Given the description of an element on the screen output the (x, y) to click on. 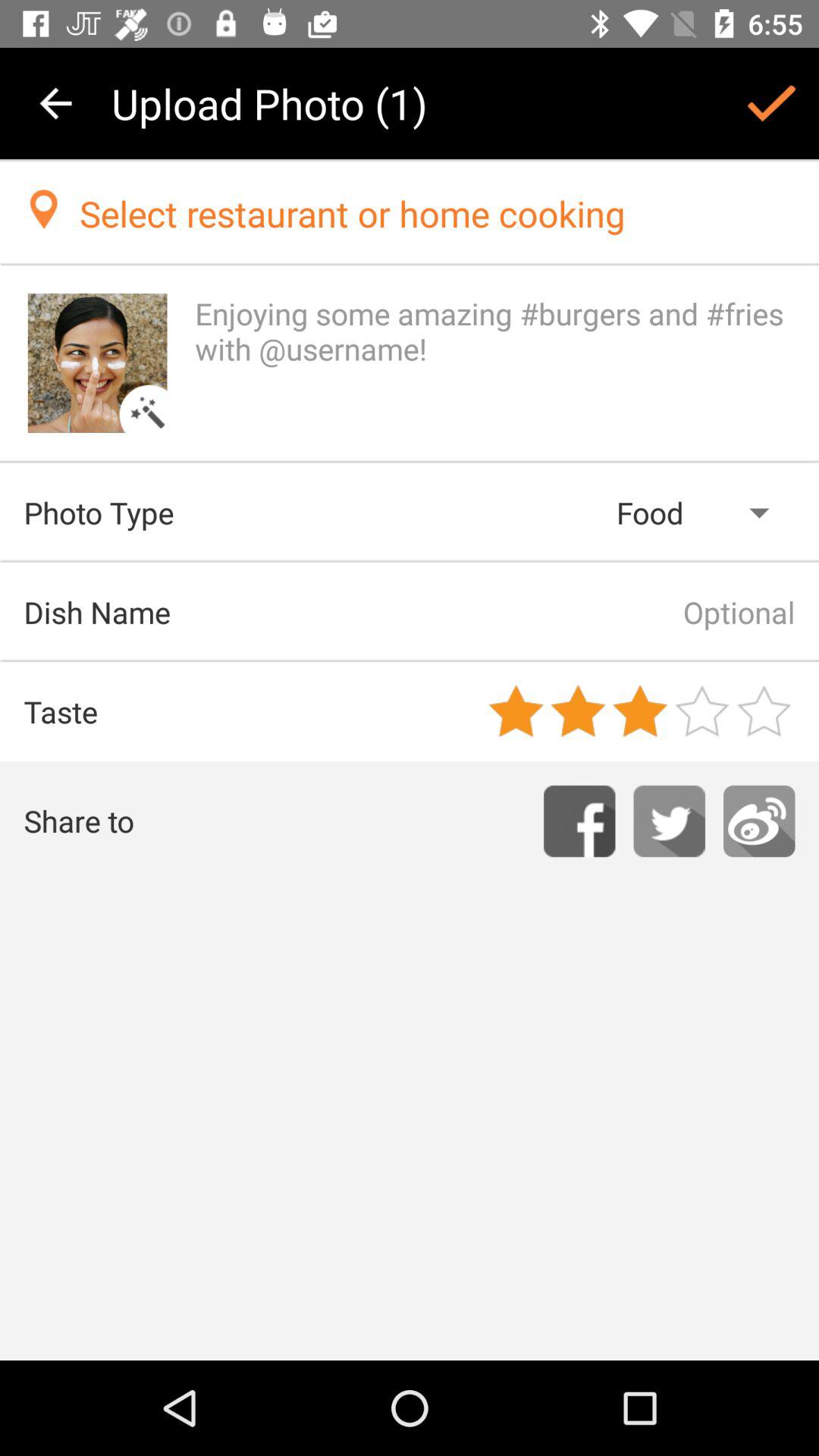
share to twitter (669, 821)
